Given the description of an element on the screen output the (x, y) to click on. 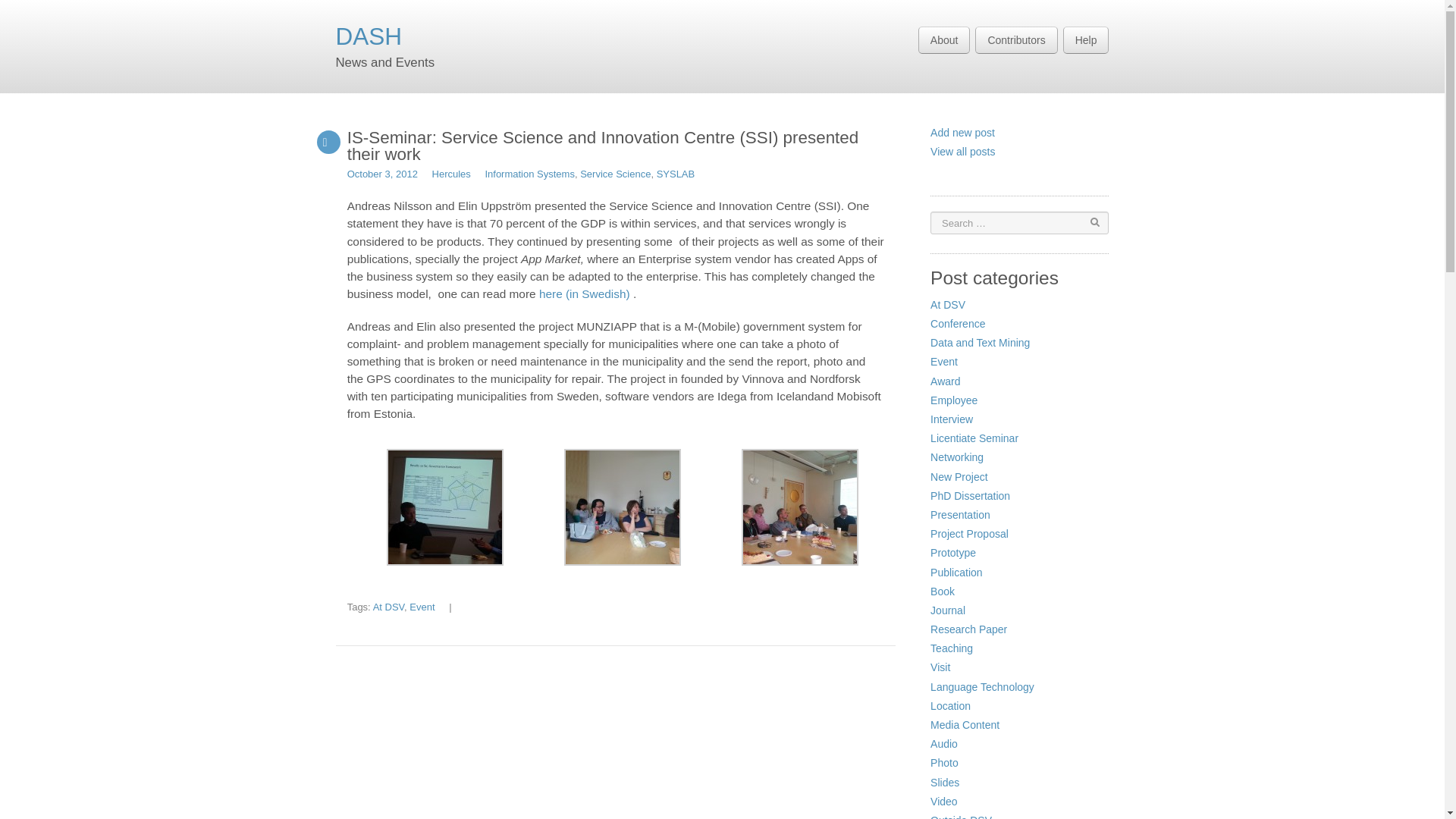
October 3, 2012 (382, 173)
Licentiate Seminar (973, 438)
Journal (947, 610)
About (944, 40)
View all posts (962, 151)
Contributors (1016, 40)
Presentation (960, 514)
Location (950, 705)
14:40 (382, 173)
Information Systems (529, 173)
Prototype (952, 552)
SYSLAB (675, 173)
DASH (367, 35)
Service Science (614, 173)
PhD Dissertation (970, 495)
